Given the description of an element on the screen output the (x, y) to click on. 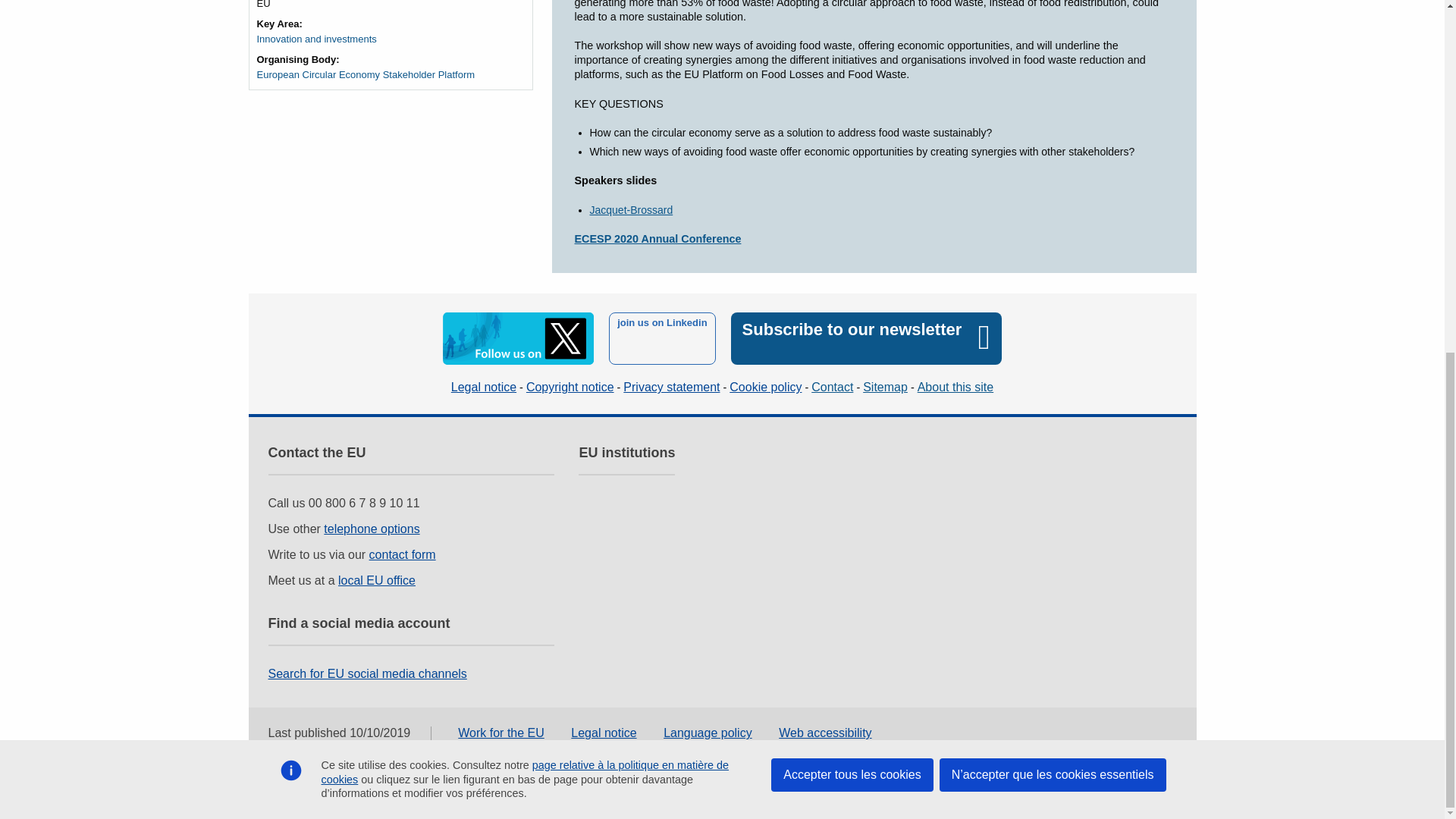
Accepter tous les cookies (852, 161)
